Given the description of an element on the screen output the (x, y) to click on. 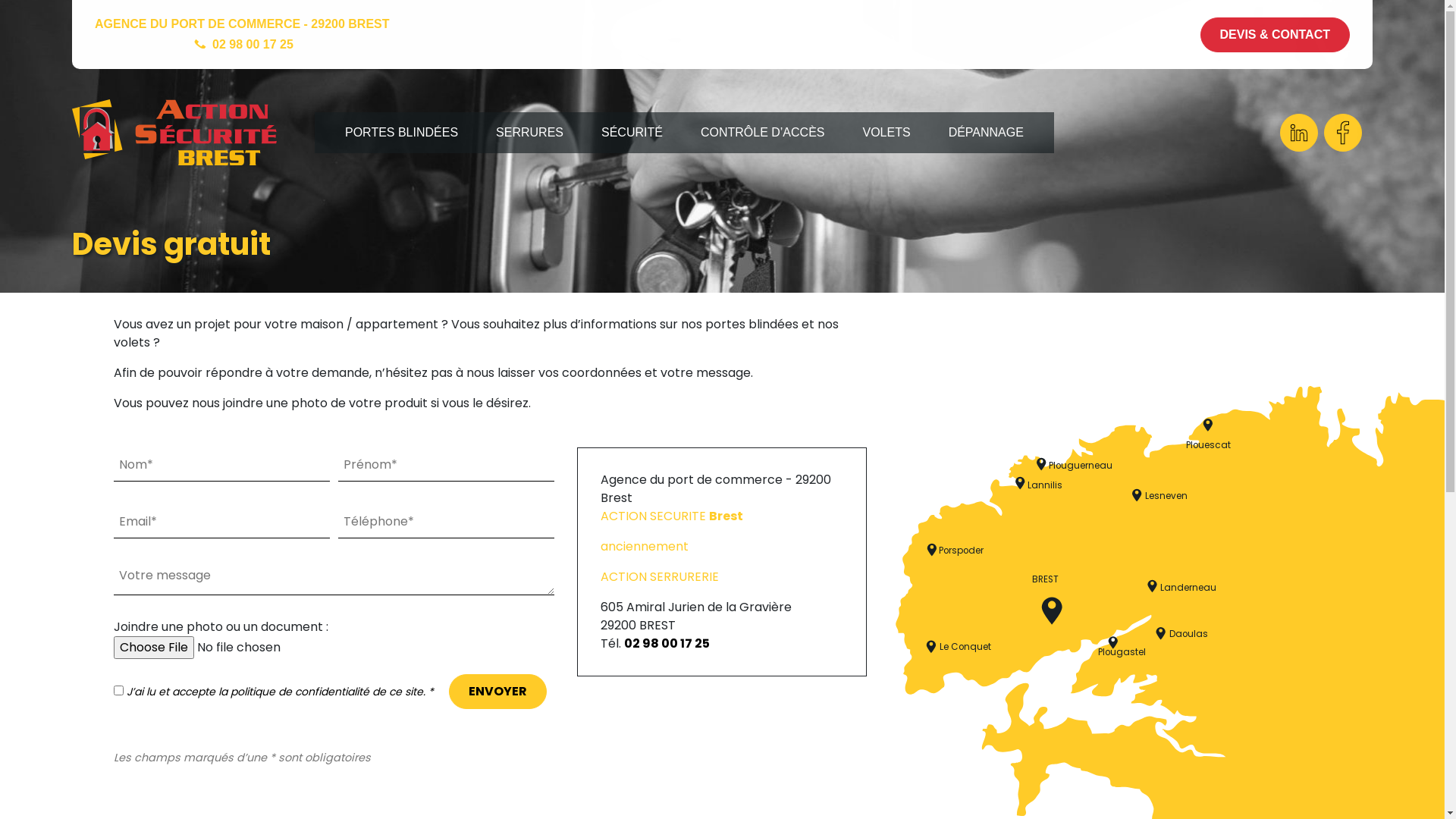
SERRURES Element type: text (529, 132)
FACEBOOK Element type: text (1342, 132)
02 98 00 17 25 Element type: text (252, 43)
DEVIS & CONTACT Element type: text (1274, 34)
LINKEDIN Element type: text (1298, 132)
VOLETS Element type: text (885, 132)
02 98 00 17 25 Element type: text (666, 643)
Envoyer Element type: text (497, 691)
